Given the description of an element on the screen output the (x, y) to click on. 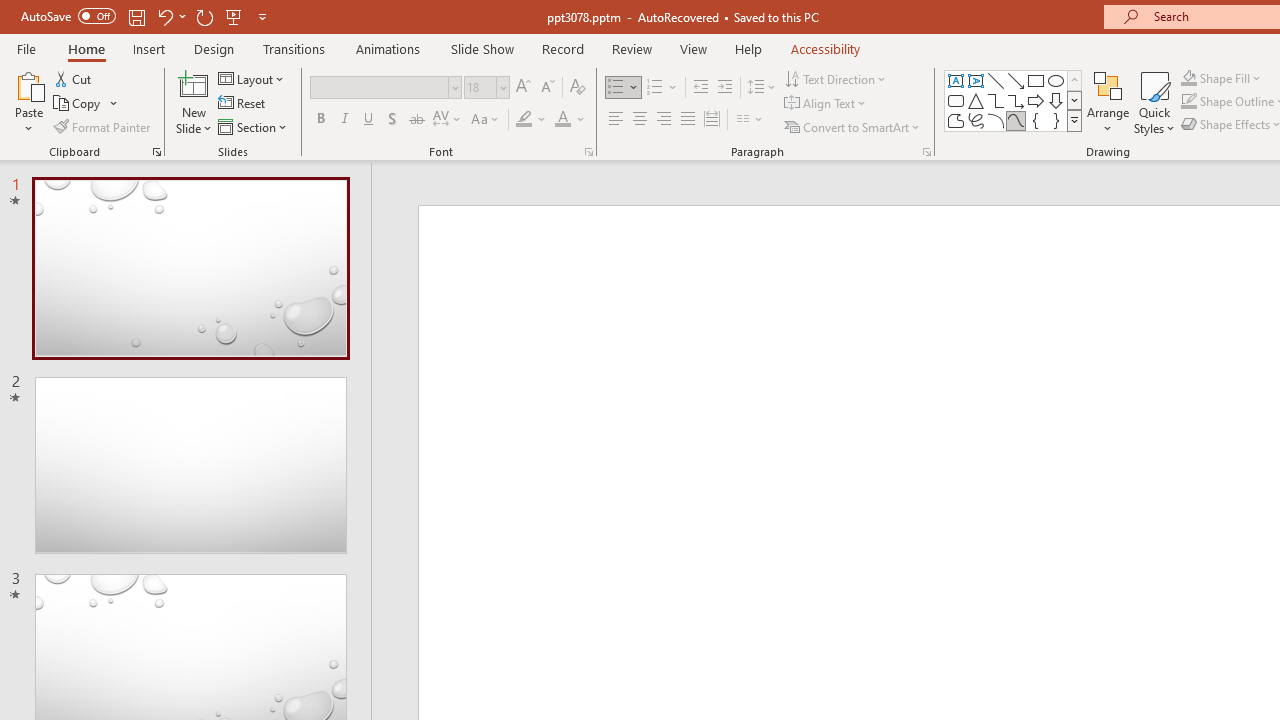
Start Mail Merge (328, 161)
Envelopes... (155, 161)
Update Labels (1064, 196)
Greeting Line... (833, 161)
